Given the description of an element on the screen output the (x, y) to click on. 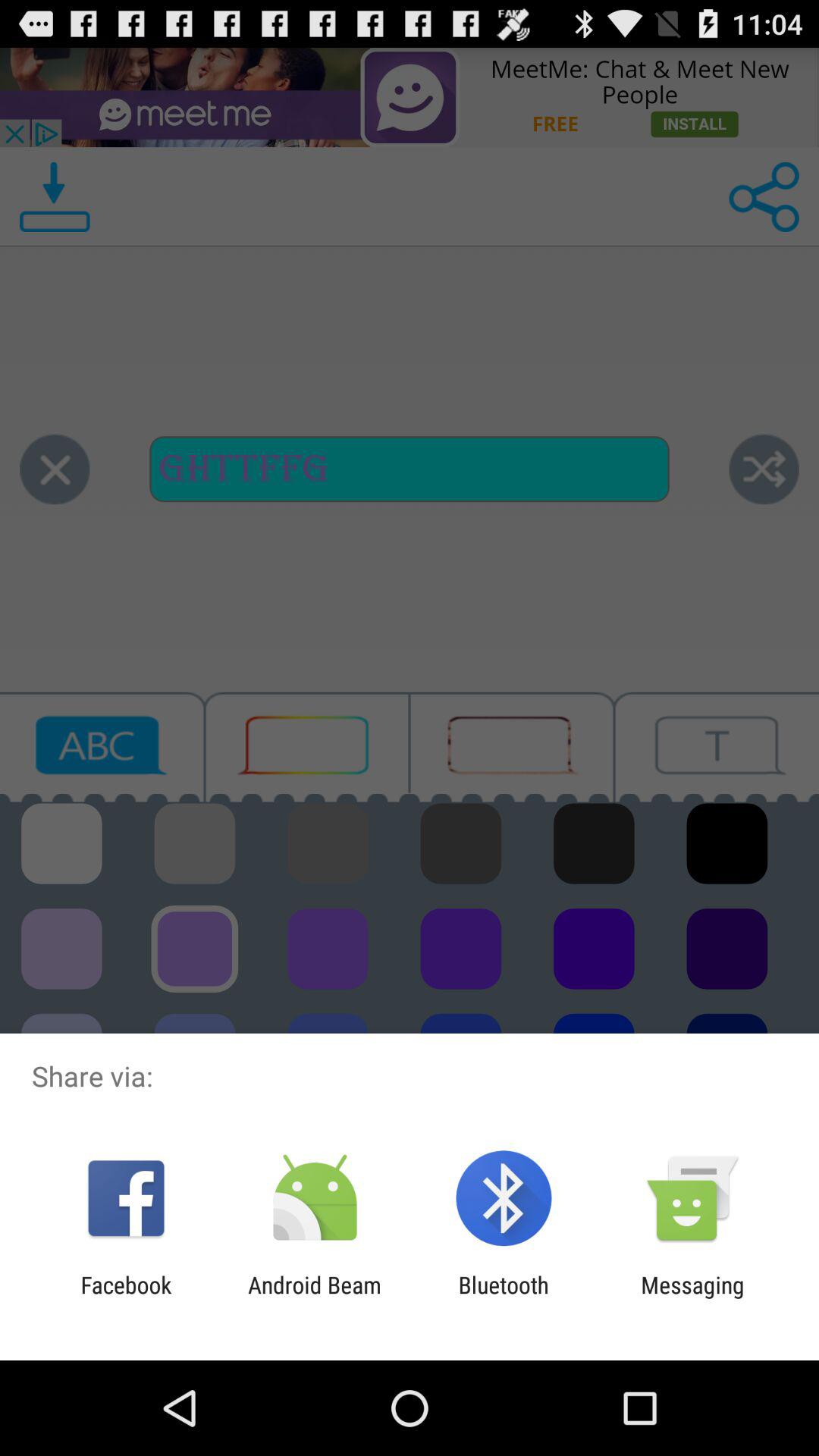
jump until bluetooth item (503, 1298)
